Given the description of an element on the screen output the (x, y) to click on. 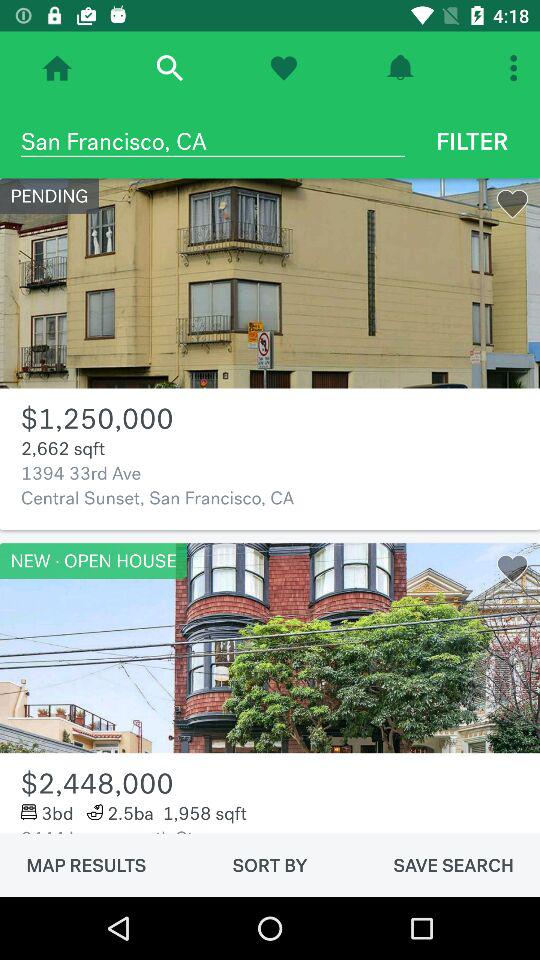
launch the icon next to the sort by (453, 865)
